Given the description of an element on the screen output the (x, y) to click on. 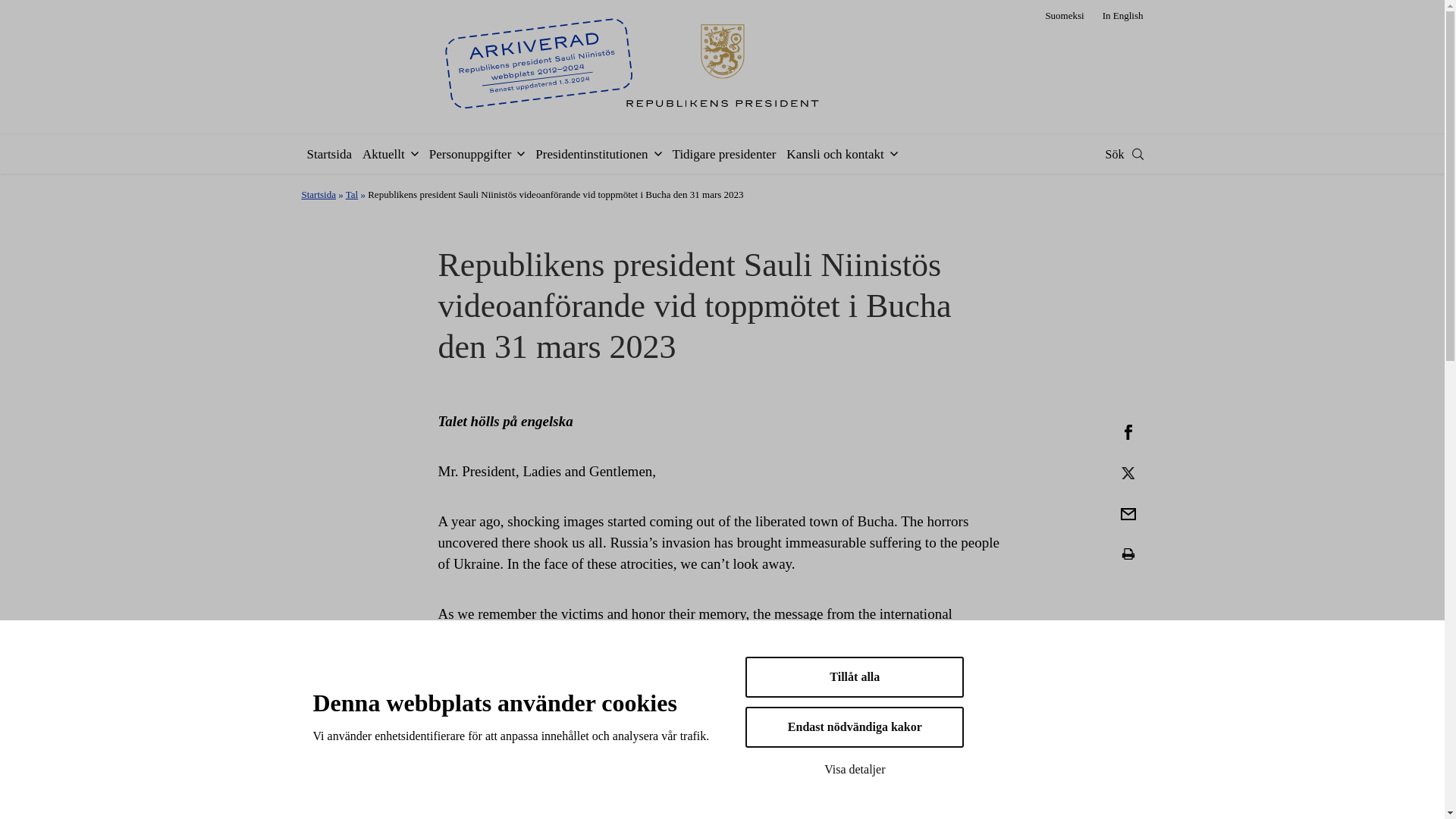
Visa detaljer (854, 769)
2B71E001-4E7E-4F45-B49E-5CA1C20B2696 (1128, 472)
